Given the description of an element on the screen output the (x, y) to click on. 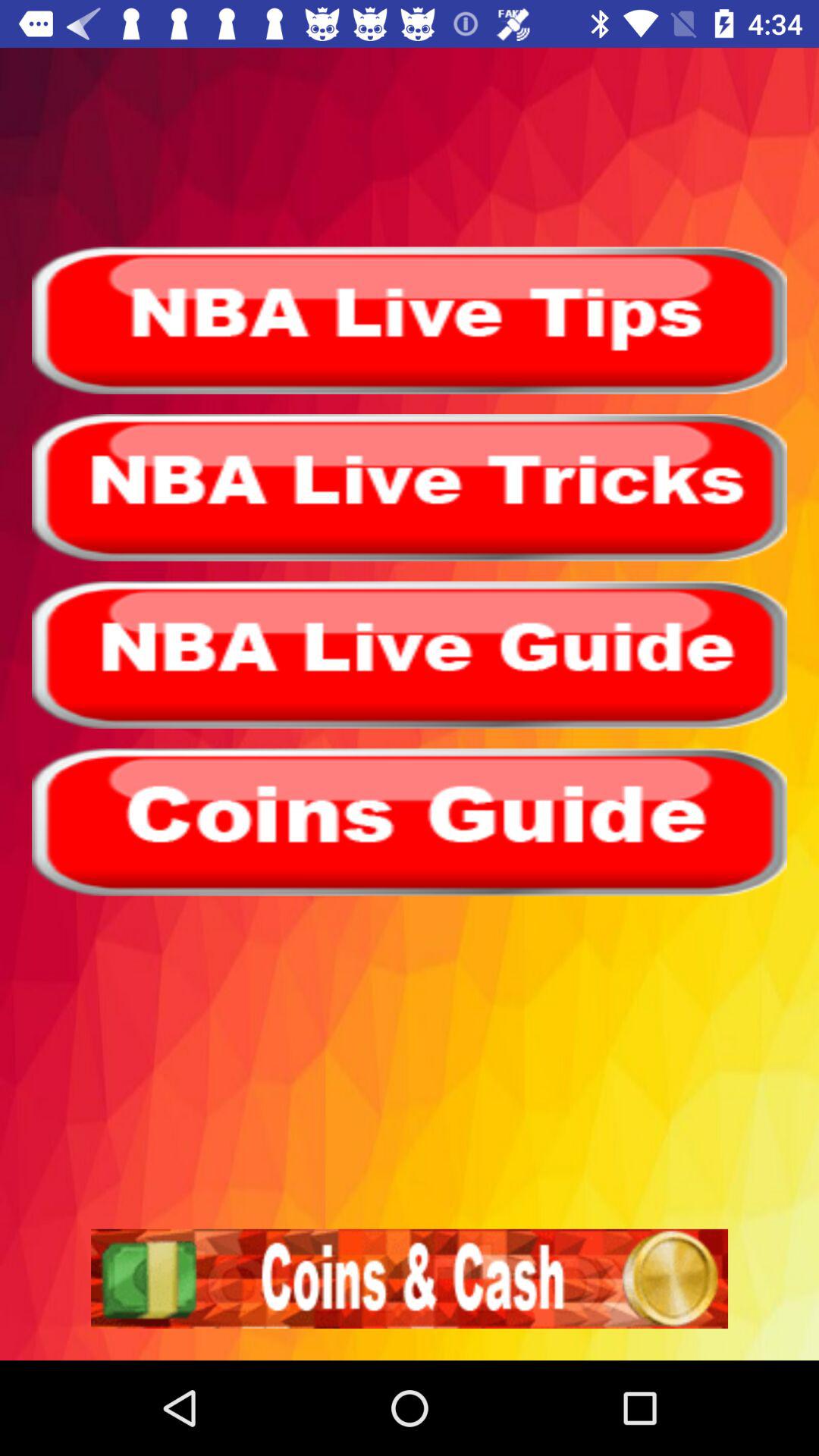
live tips (409, 320)
